Given the description of an element on the screen output the (x, y) to click on. 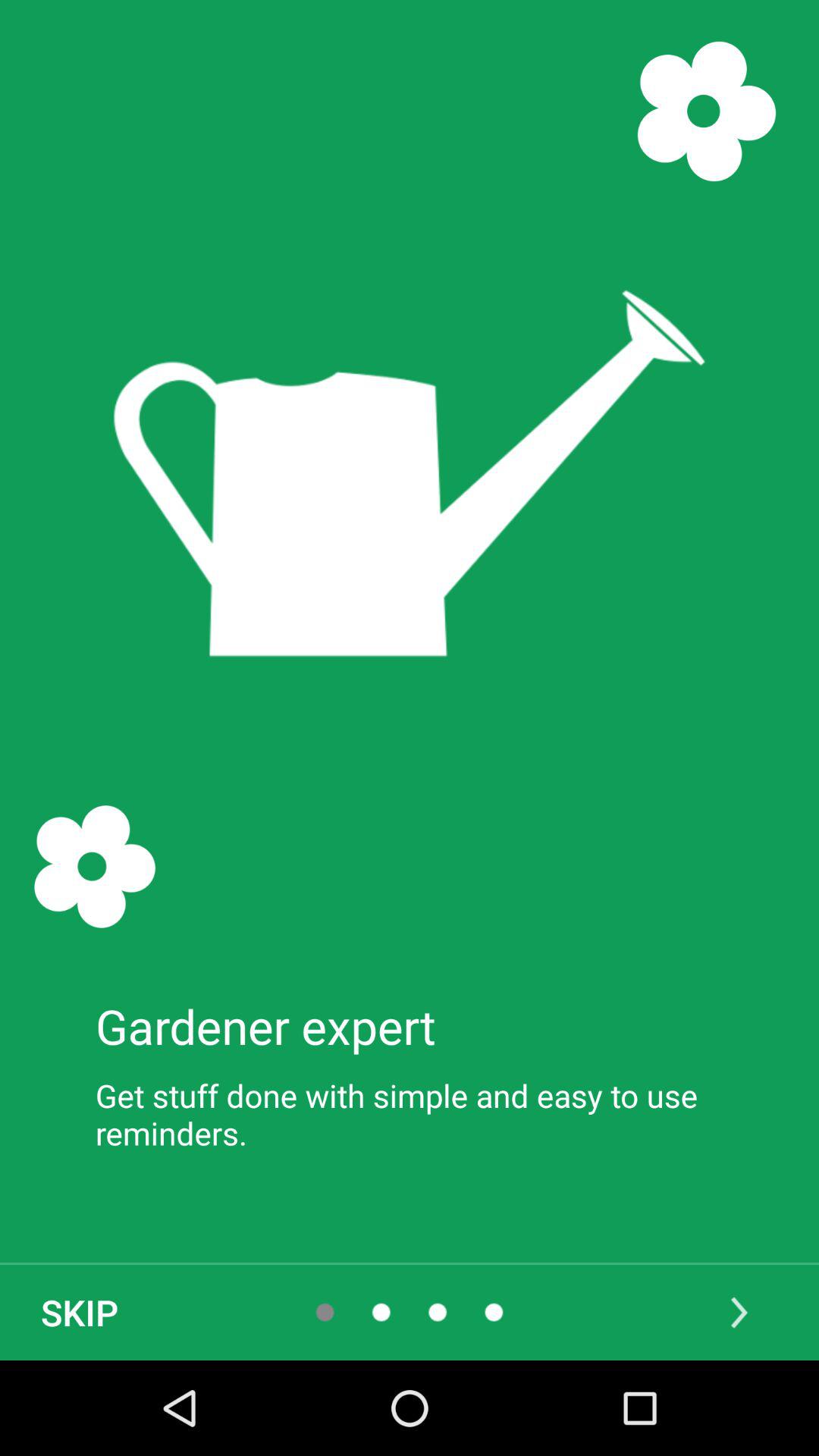
turn on icon below the get stuff done icon (739, 1312)
